Given the description of an element on the screen output the (x, y) to click on. 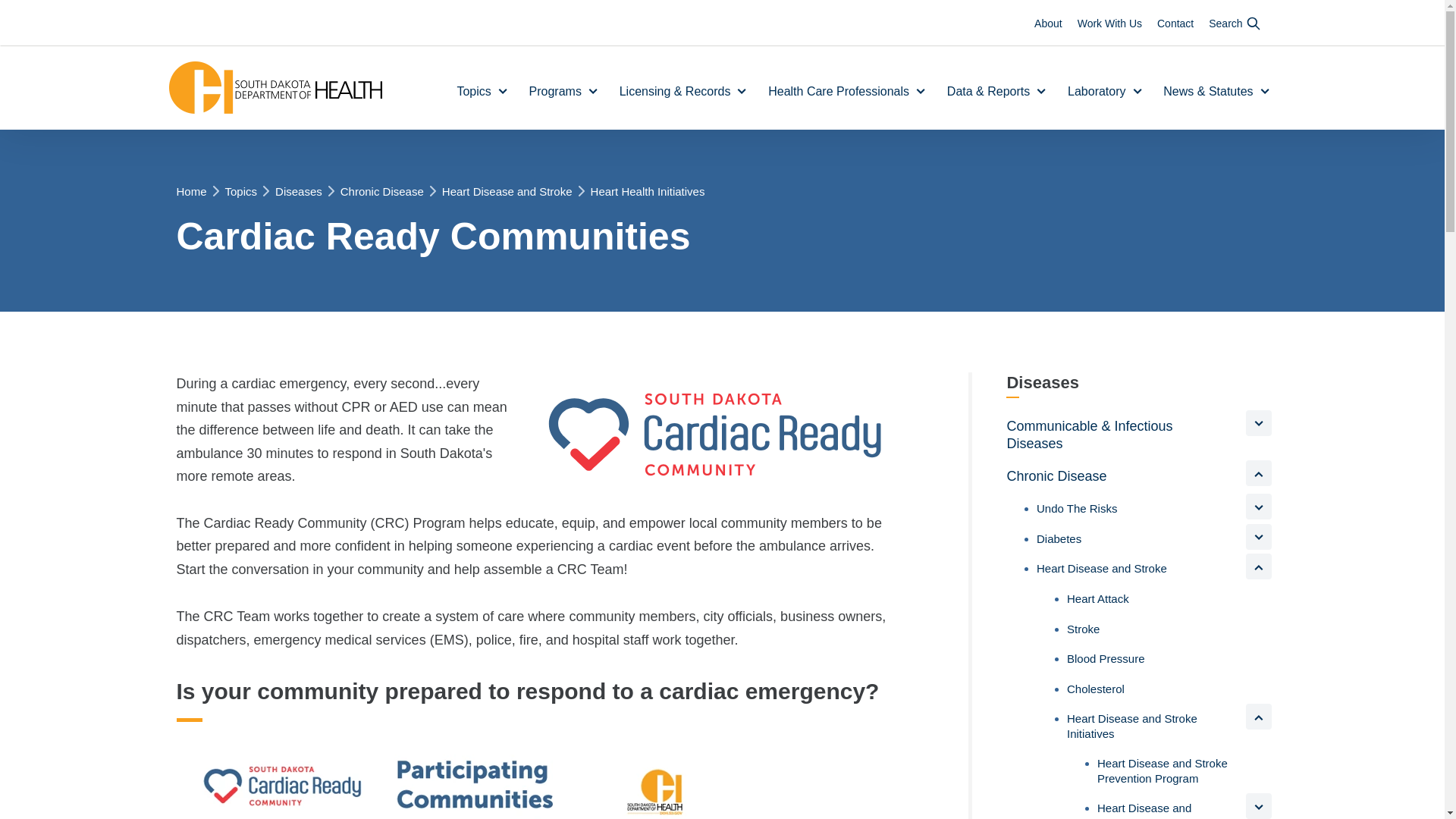
About (1047, 23)
Programs (566, 91)
Search (1234, 23)
Contact (1175, 23)
Topics (484, 91)
Work With Us (1109, 23)
